Given the description of an element on the screen output the (x, y) to click on. 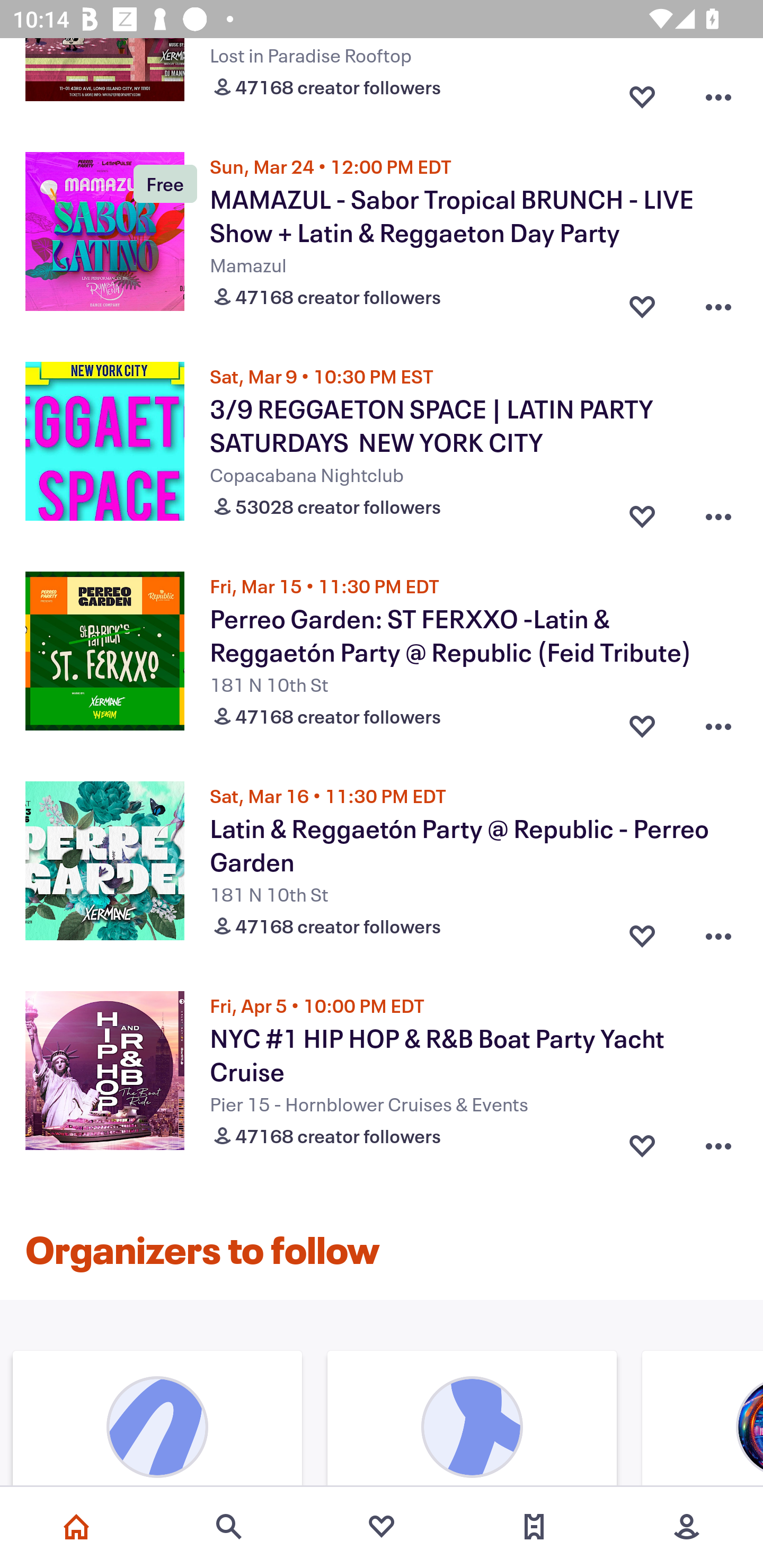
Favorite button (642, 93)
Overflow menu button (718, 93)
Favorite button (642, 303)
Overflow menu button (718, 303)
Favorite button (642, 511)
Overflow menu button (718, 511)
Favorite button (642, 721)
Overflow menu button (718, 721)
Favorite button (642, 931)
Overflow menu button (718, 931)
Favorite button (642, 1142)
Overflow menu button (718, 1142)
Organizer's image Frankie Banks (157, 1420)
Organizer's image Tinna L. (471, 1420)
Home (76, 1526)
Search events (228, 1526)
Favorites (381, 1526)
Tickets (533, 1526)
More (686, 1526)
